Given the description of an element on the screen output the (x, y) to click on. 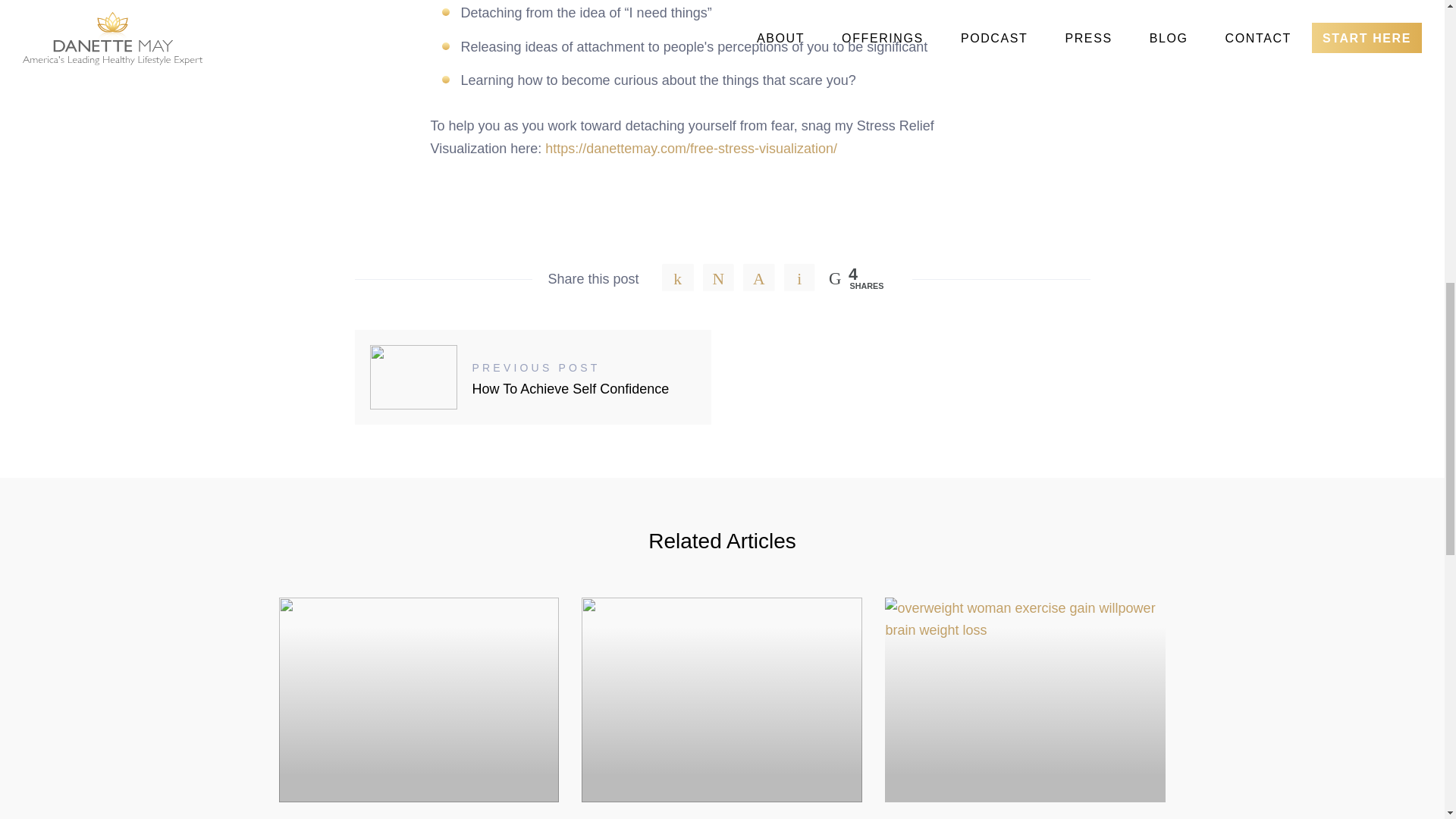
4 (755, 274)
